Given the description of an element on the screen output the (x, y) to click on. 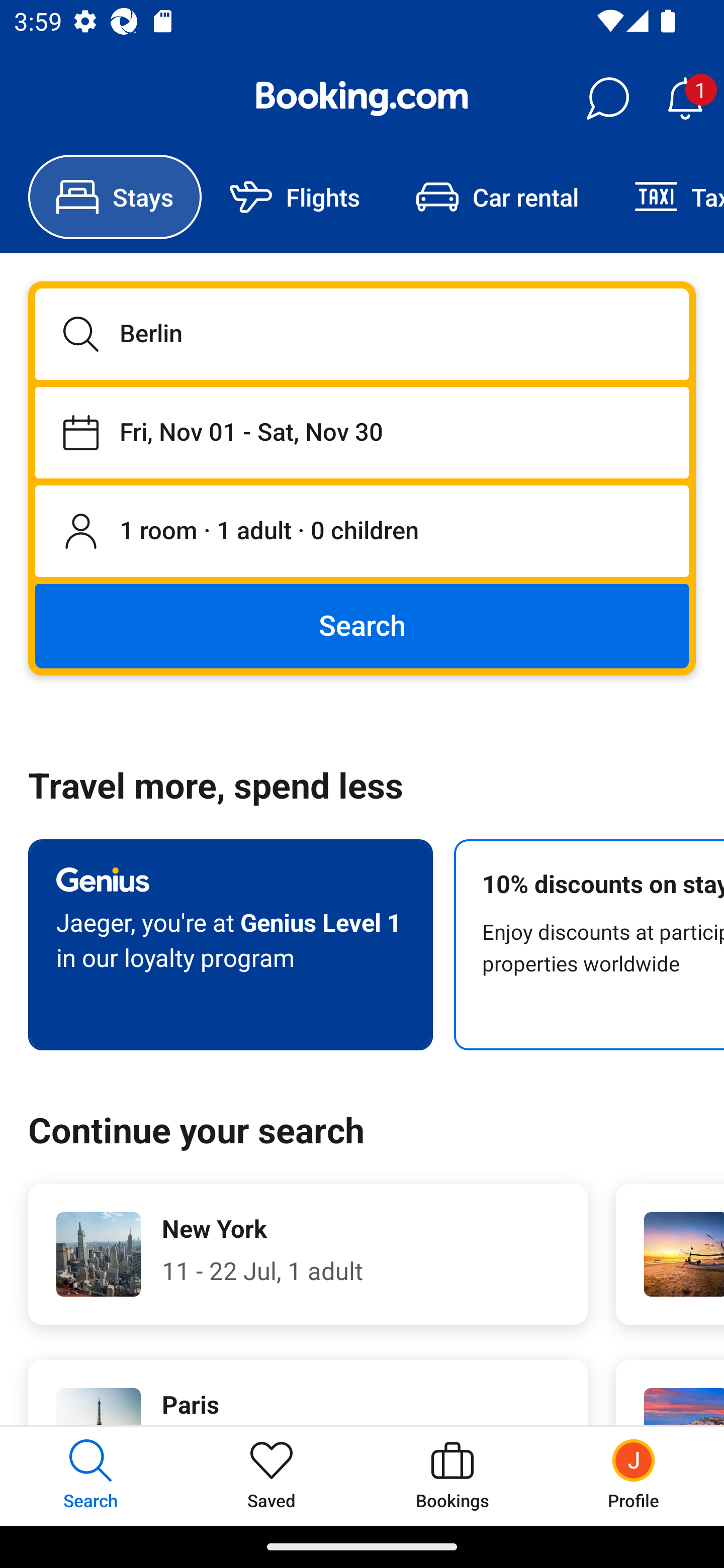
Messages (607, 98)
Notifications (685, 98)
Stays (114, 197)
Flights (294, 197)
Car rental (497, 197)
Taxi (665, 197)
Berlin (361, 333)
Staying from Fri, Nov 01 until Sat, Nov 30 (361, 432)
1 room, 1 adult, 0 children (361, 531)
Search (361, 625)
New York 11 - 22 Jul, 1 adult (307, 1253)
Saved (271, 1475)
Bookings (452, 1475)
Profile (633, 1475)
